Given the description of an element on the screen output the (x, y) to click on. 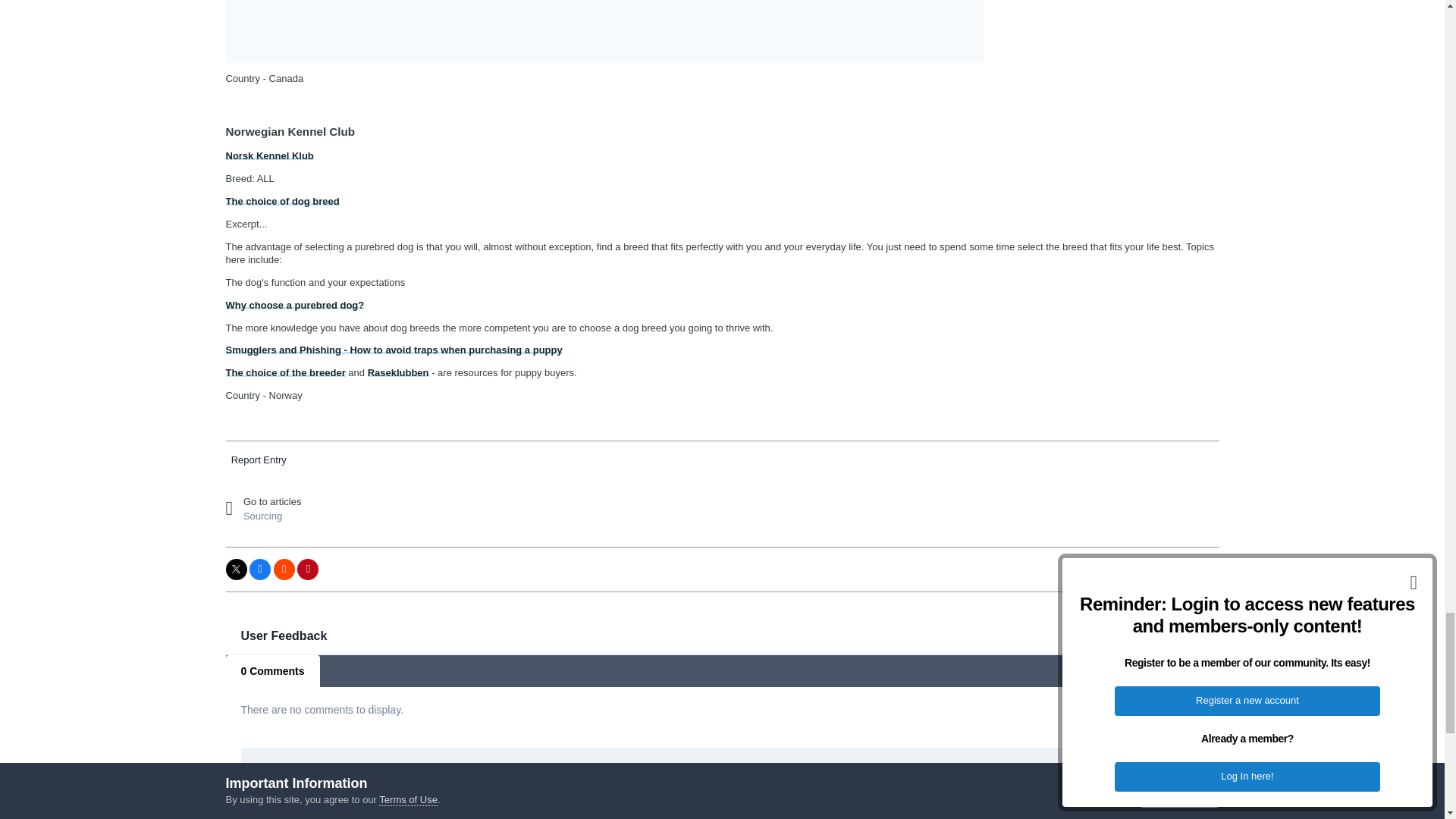
Report Entry (258, 460)
